Given the description of an element on the screen output the (x, y) to click on. 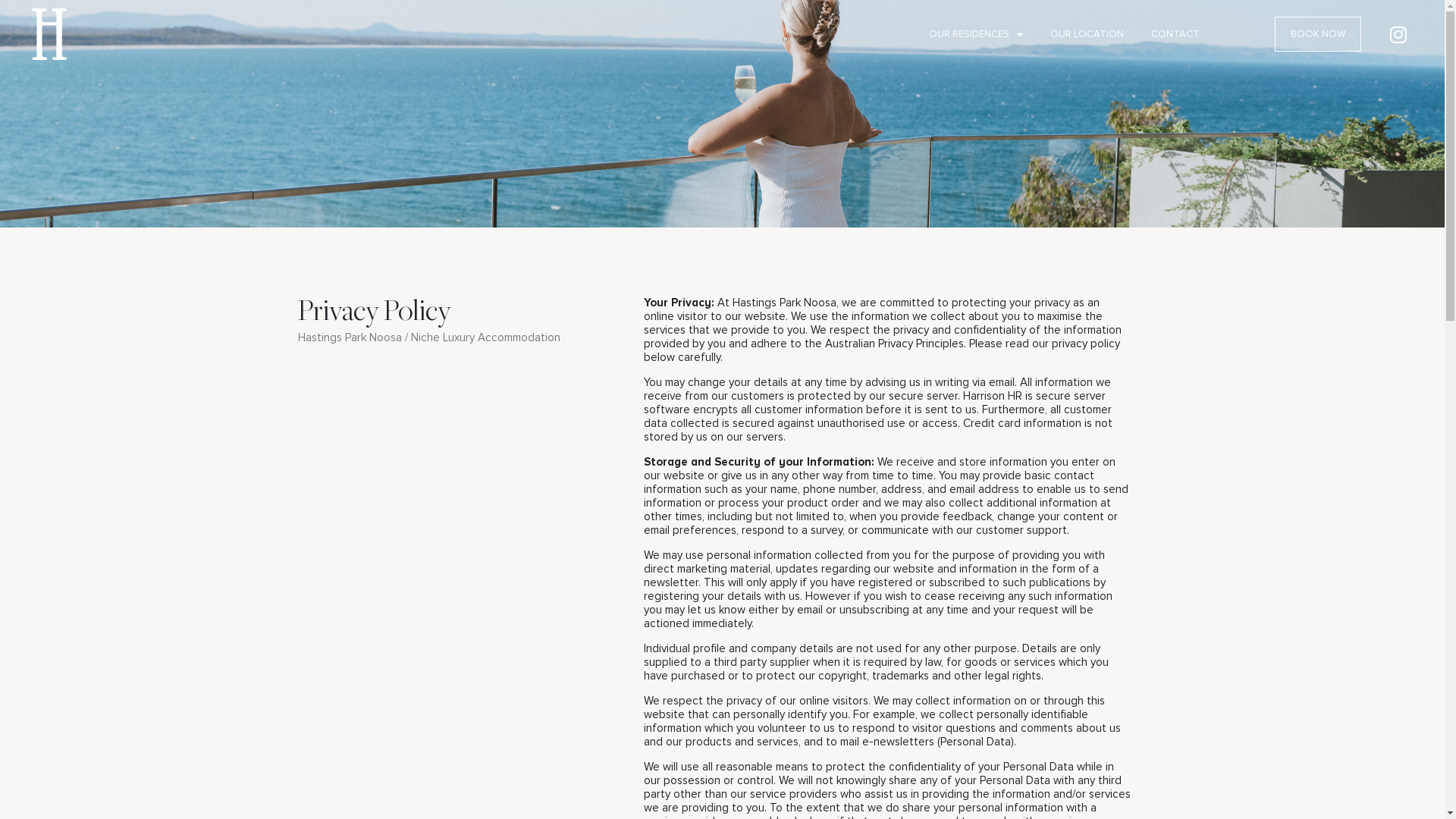
BOOK NOW Element type: text (1317, 33)
CONTACT Element type: text (1175, 34)
OUR RESIDENCES Element type: text (975, 34)
OUR LOCATION Element type: text (1086, 34)
